Given the description of an element on the screen output the (x, y) to click on. 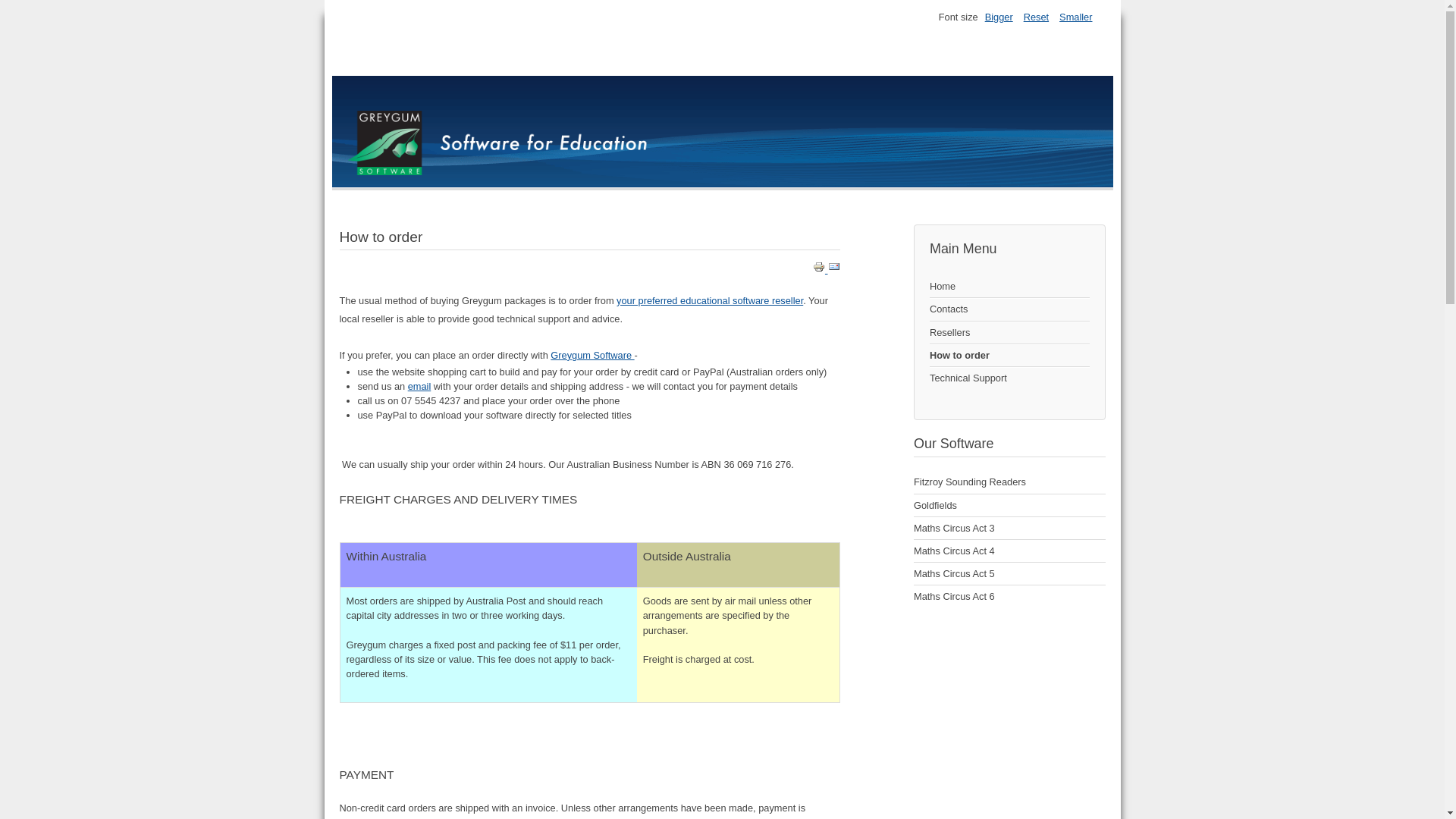
Greygum Software  Element type: text (591, 354)
Maths Circus Act 6 Element type: text (1009, 596)
Home Element type: text (1009, 286)
email Element type: text (419, 386)
Maths Circus Act 3 Element type: text (1009, 528)
Maths Circus Act 5 Element type: text (1009, 573)
Reset Element type: text (1035, 16)
Contacts Element type: text (1009, 309)
Bigger Element type: text (998, 16)
Technical Support Element type: text (1009, 378)
Maths Circus Act 4 Element type: text (1009, 550)
Fitzroy Sounding Readers Element type: text (1009, 481)
Smaller Element type: text (1075, 16)
How to order Element type: text (1009, 355)
Email this link to a friend Element type: hover (834, 269)
Print article < How to order > Element type: hover (820, 269)
Goldfields Element type: text (1009, 505)
your preferred educational software reseller Element type: text (709, 300)
Resellers Element type: text (1009, 332)
